Given the description of an element on the screen output the (x, y) to click on. 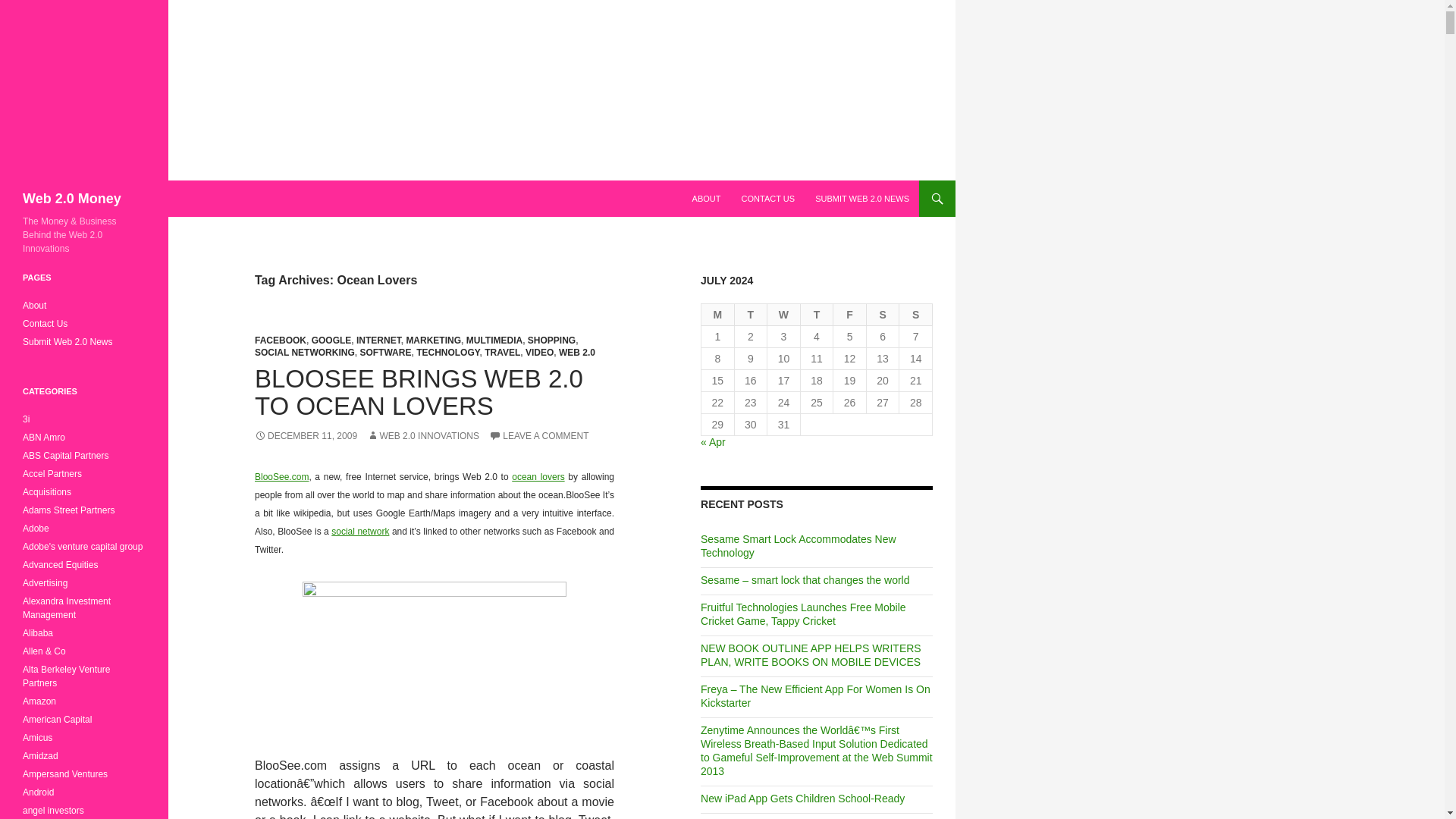
Sunday (916, 314)
FACEBOOK (279, 339)
Web 2.0 Money (71, 198)
CONTACT US (768, 198)
ABOUT (706, 198)
WEB 2.0 INNOVATIONS (422, 435)
BLOOSEE BRINGS WEB 2.0 TO OCEAN LOVERS (418, 392)
Thursday (817, 314)
Friday (849, 314)
MULTIMEDIA (493, 339)
SHOPPING (551, 339)
Wednesday (783, 314)
Saturday (882, 314)
ocean lovers (538, 476)
